Given the description of an element on the screen output the (x, y) to click on. 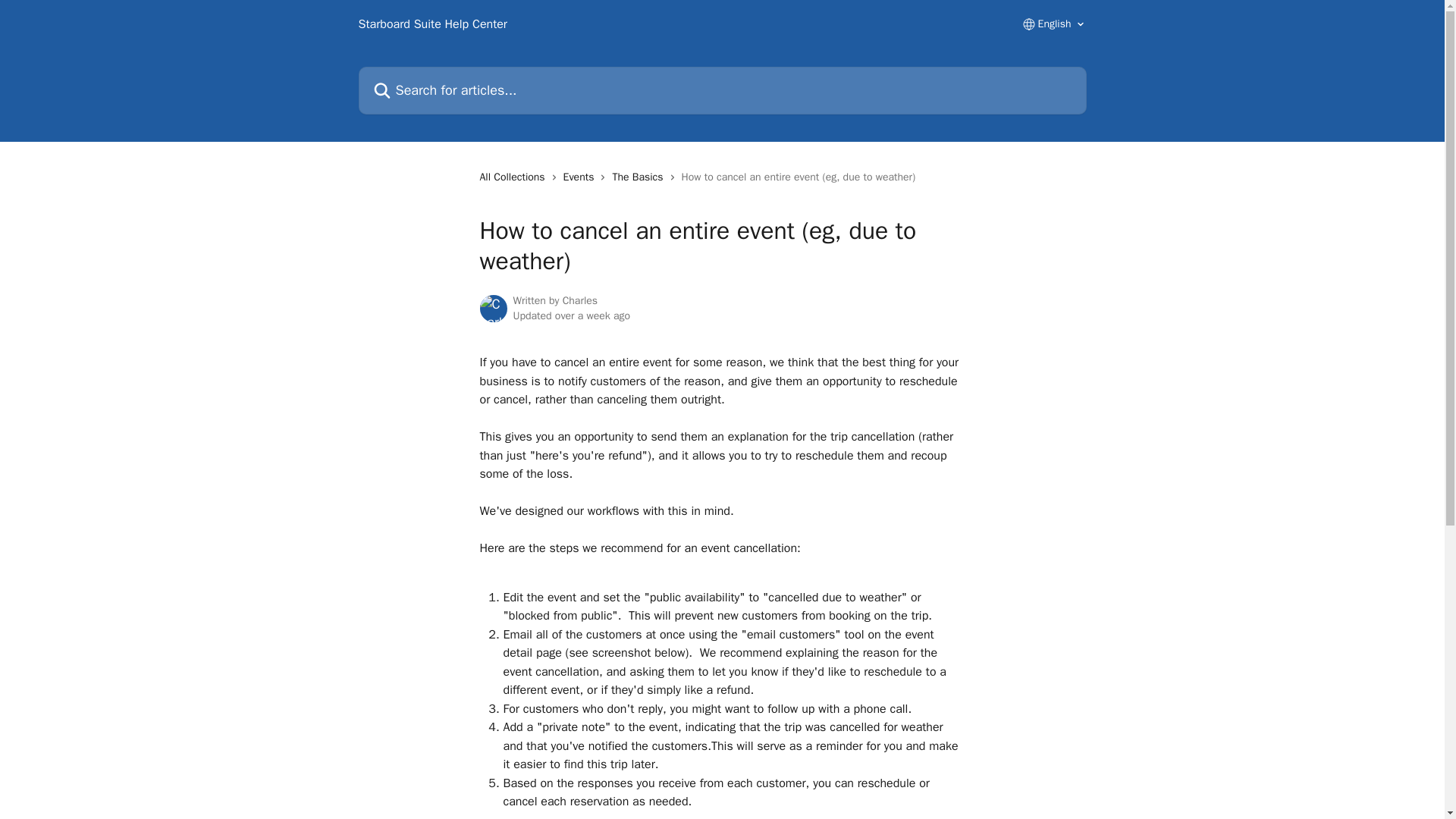
The Basics (639, 176)
Events (581, 176)
All Collections (514, 176)
